Given the description of an element on the screen output the (x, y) to click on. 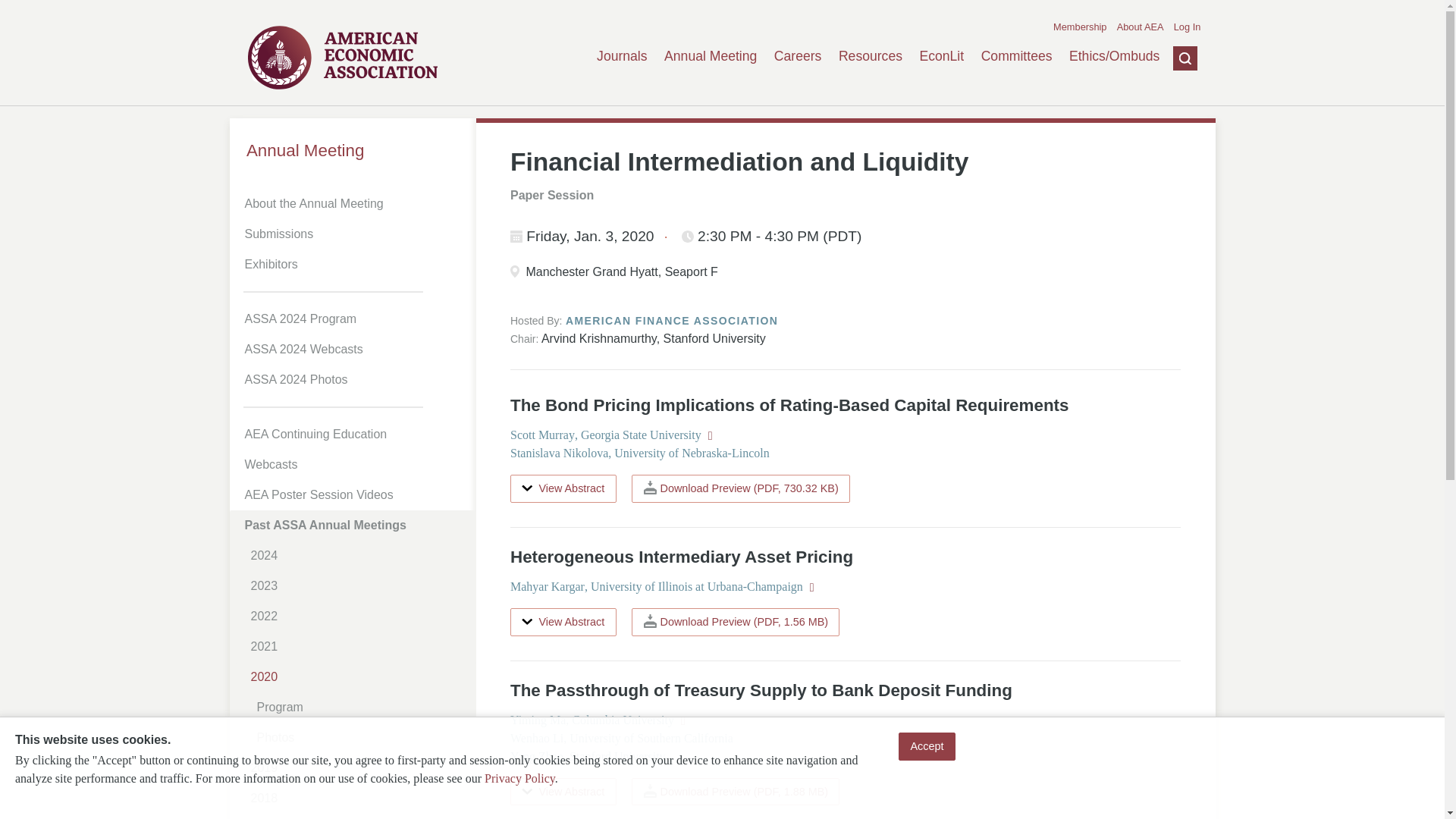
Resources (870, 55)
View Abstract (563, 488)
About AEA (1139, 26)
Membership (1079, 26)
AEA Continuing Education (355, 434)
Committees (1016, 55)
View Abstract (563, 791)
Webcasts (355, 464)
Annual Meeting (710, 55)
AEA Poster Session Videos (355, 494)
Careers (798, 55)
Log In (1187, 26)
Search (1173, 131)
2023 (358, 585)
Annual Meeting (352, 150)
